Given the description of an element on the screen output the (x, y) to click on. 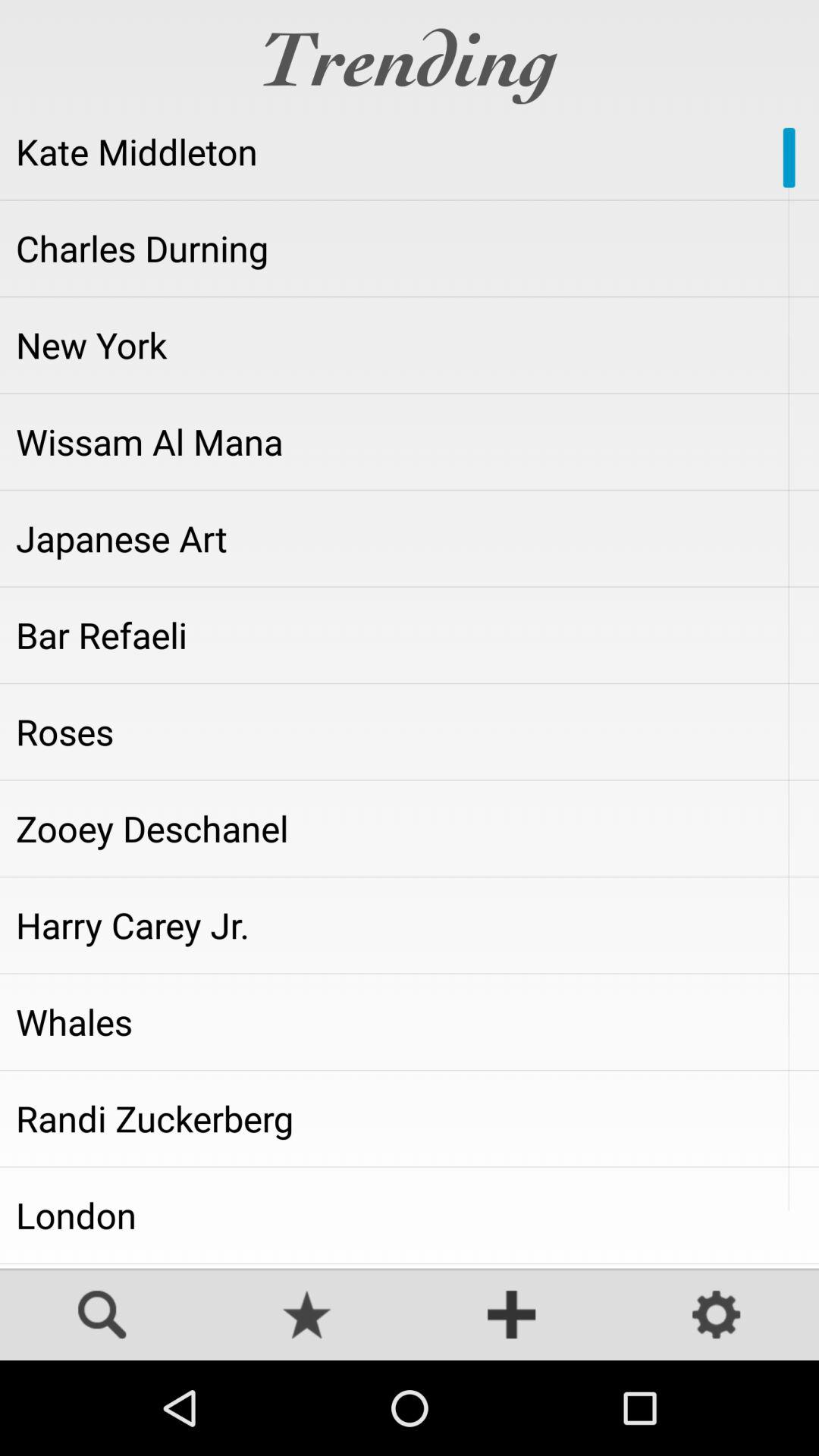
favorites (306, 1316)
